Given the description of an element on the screen output the (x, y) to click on. 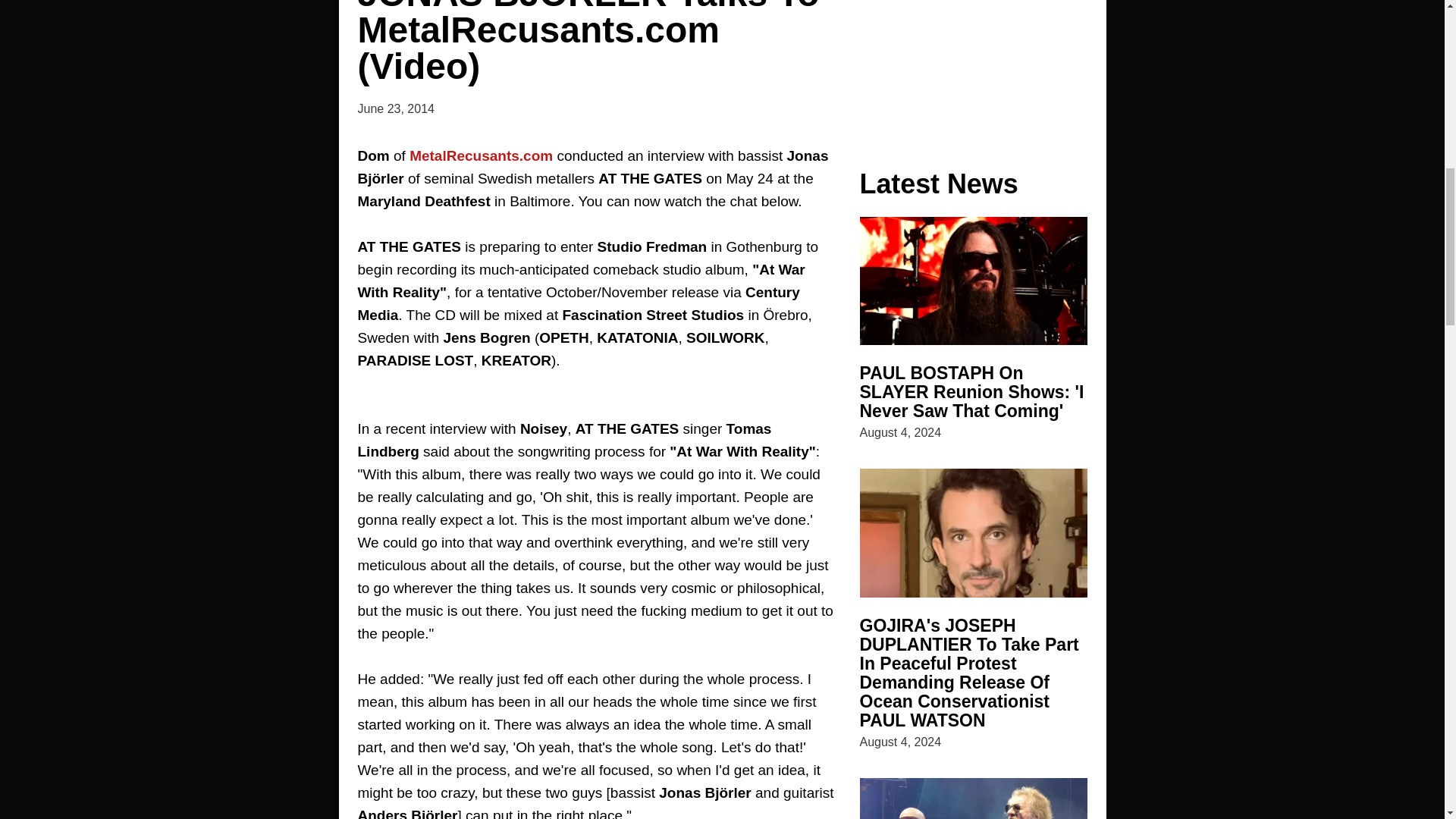
MetalRecusants.com (481, 155)
